Given the description of an element on the screen output the (x, y) to click on. 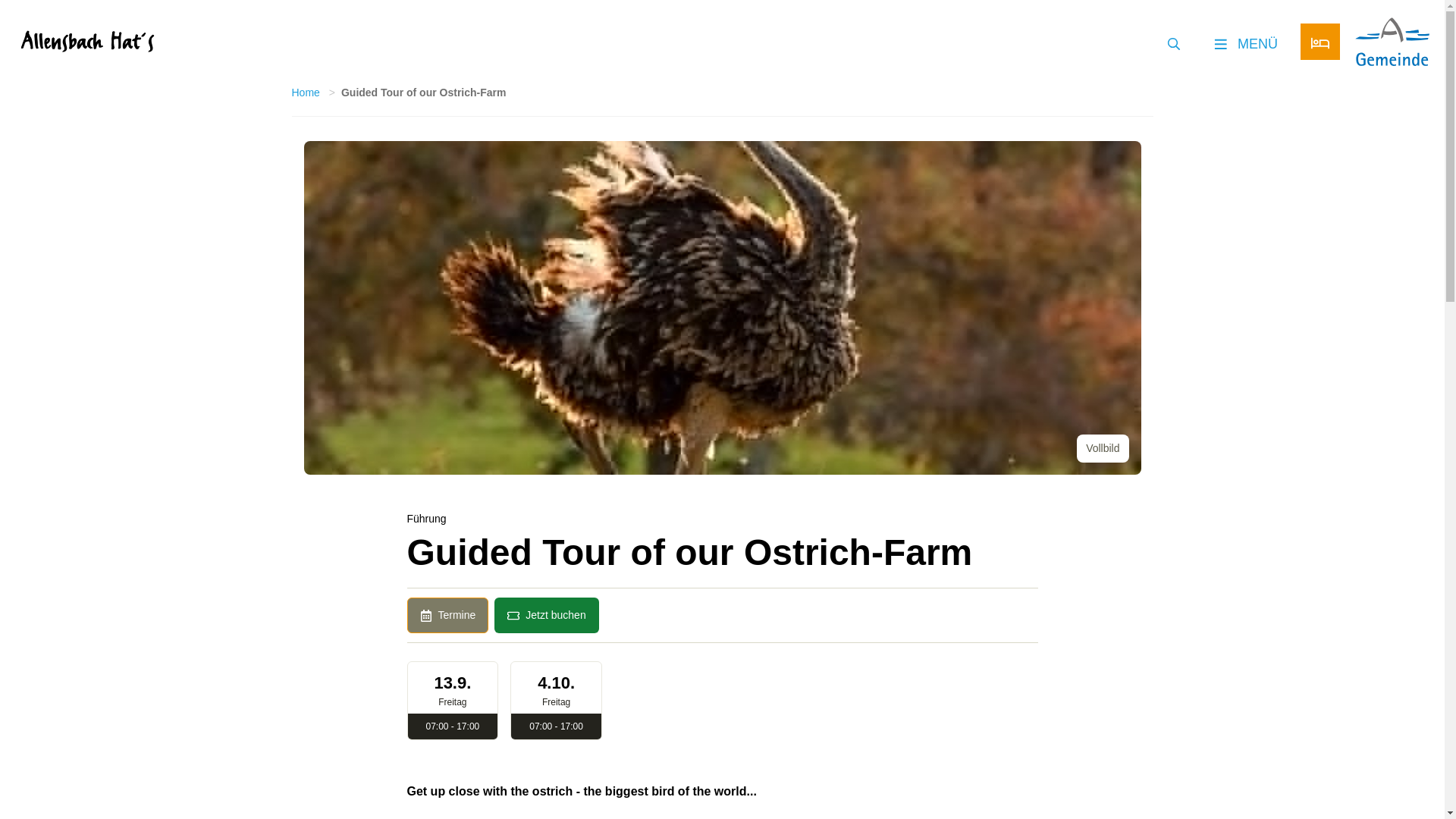
SUCHEN (1173, 41)
BUCHEN (1320, 43)
BUCHEN (1319, 41)
